Given the description of an element on the screen output the (x, y) to click on. 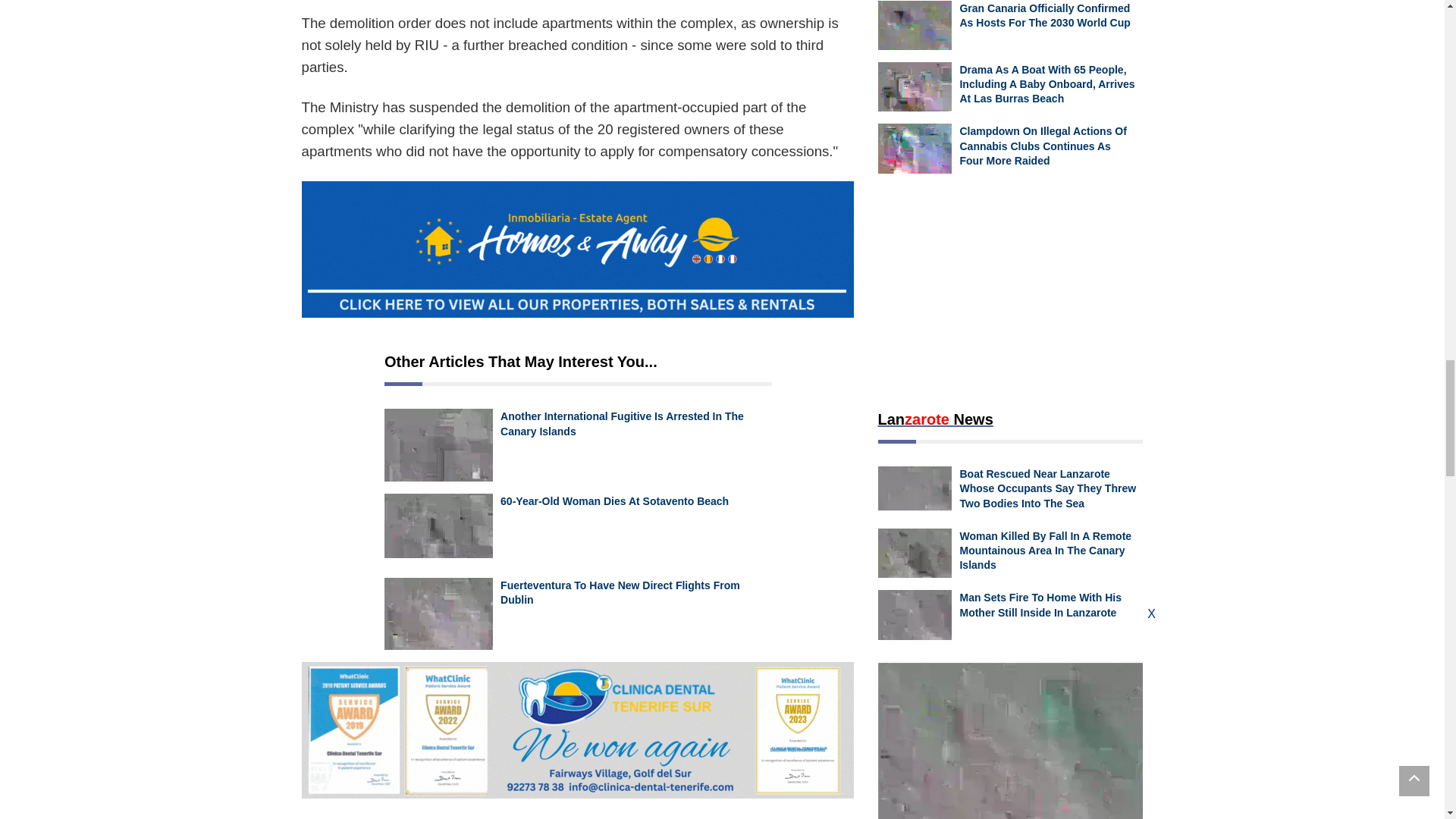
Clinica Dental Tenerife Sur (577, 729)
Homes Away (577, 248)
Fuerteventura to have new direct flights from Dublin (438, 614)
60-year-old woman dies at Sotavento Beach (438, 529)
